Given the description of an element on the screen output the (x, y) to click on. 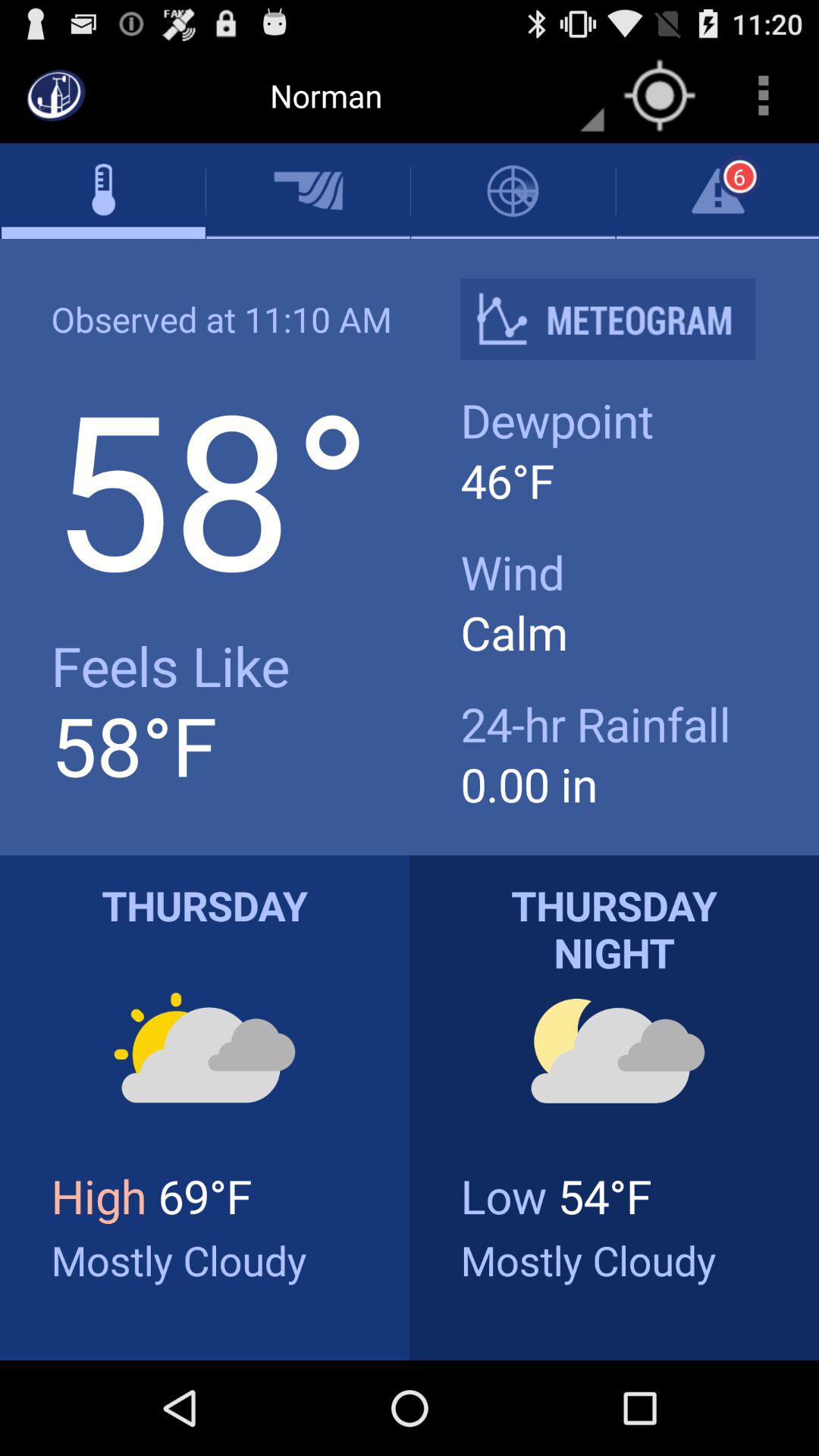
degree identity button (619, 319)
